Given the description of an element on the screen output the (x, y) to click on. 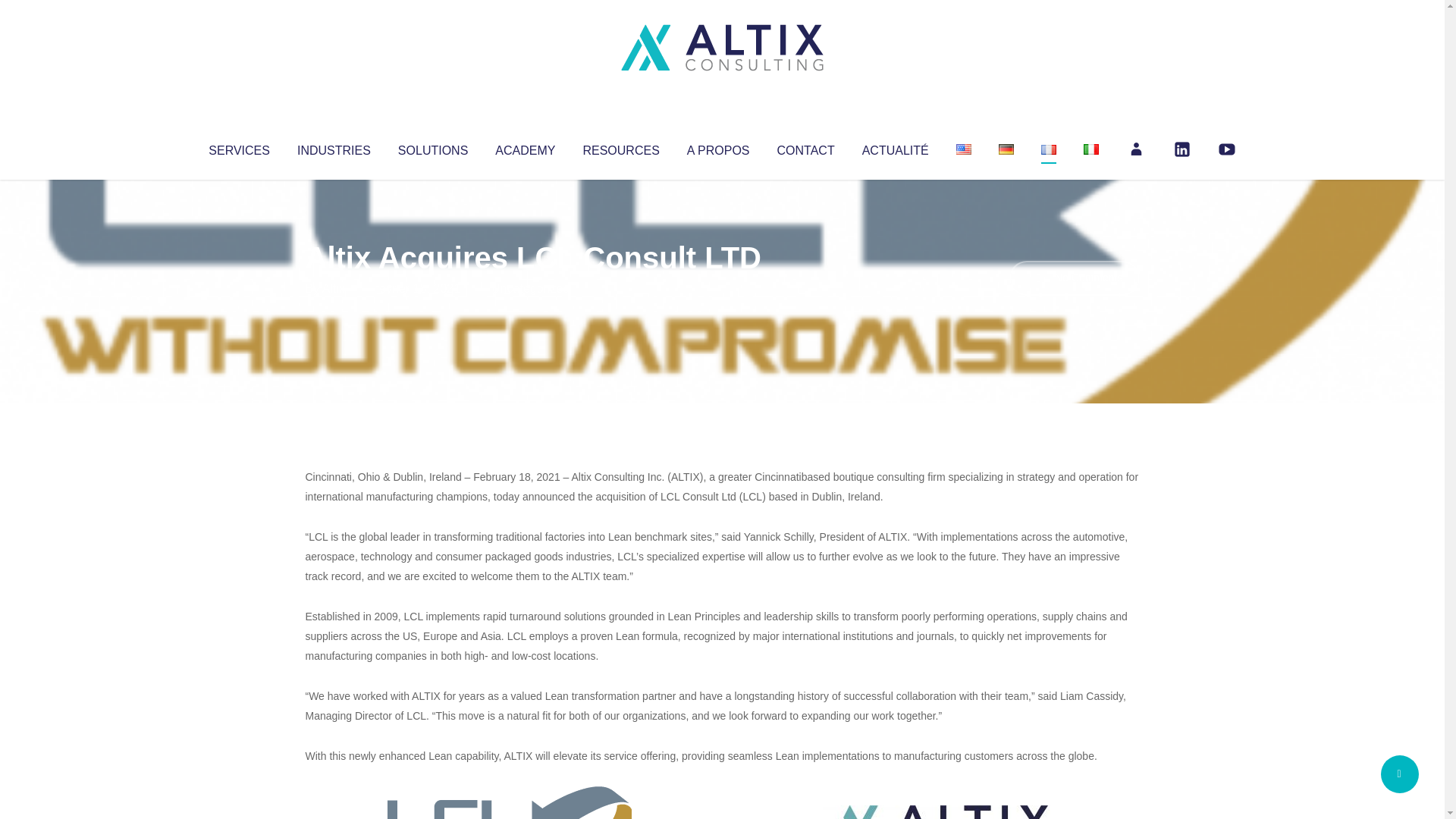
Altix (333, 287)
ACADEMY (524, 146)
SERVICES (238, 146)
RESOURCES (620, 146)
SOLUTIONS (432, 146)
INDUSTRIES (334, 146)
No Comments (1073, 278)
Uncategorized (530, 287)
Articles par Altix (333, 287)
A PROPOS (718, 146)
